Given the description of an element on the screen output the (x, y) to click on. 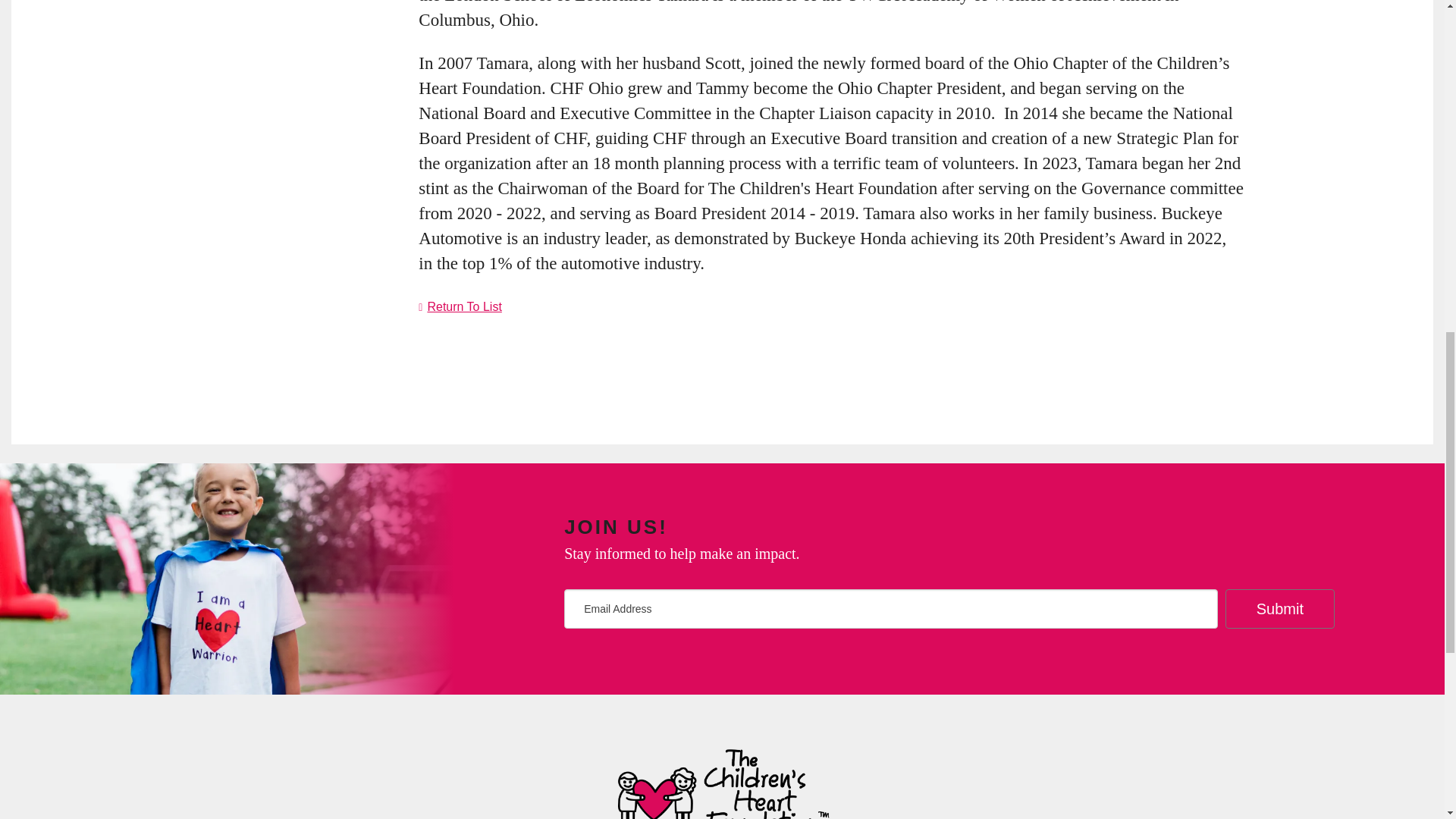
Submit (1280, 608)
logo (722, 779)
Email Address (890, 608)
